Given the description of an element on the screen output the (x, y) to click on. 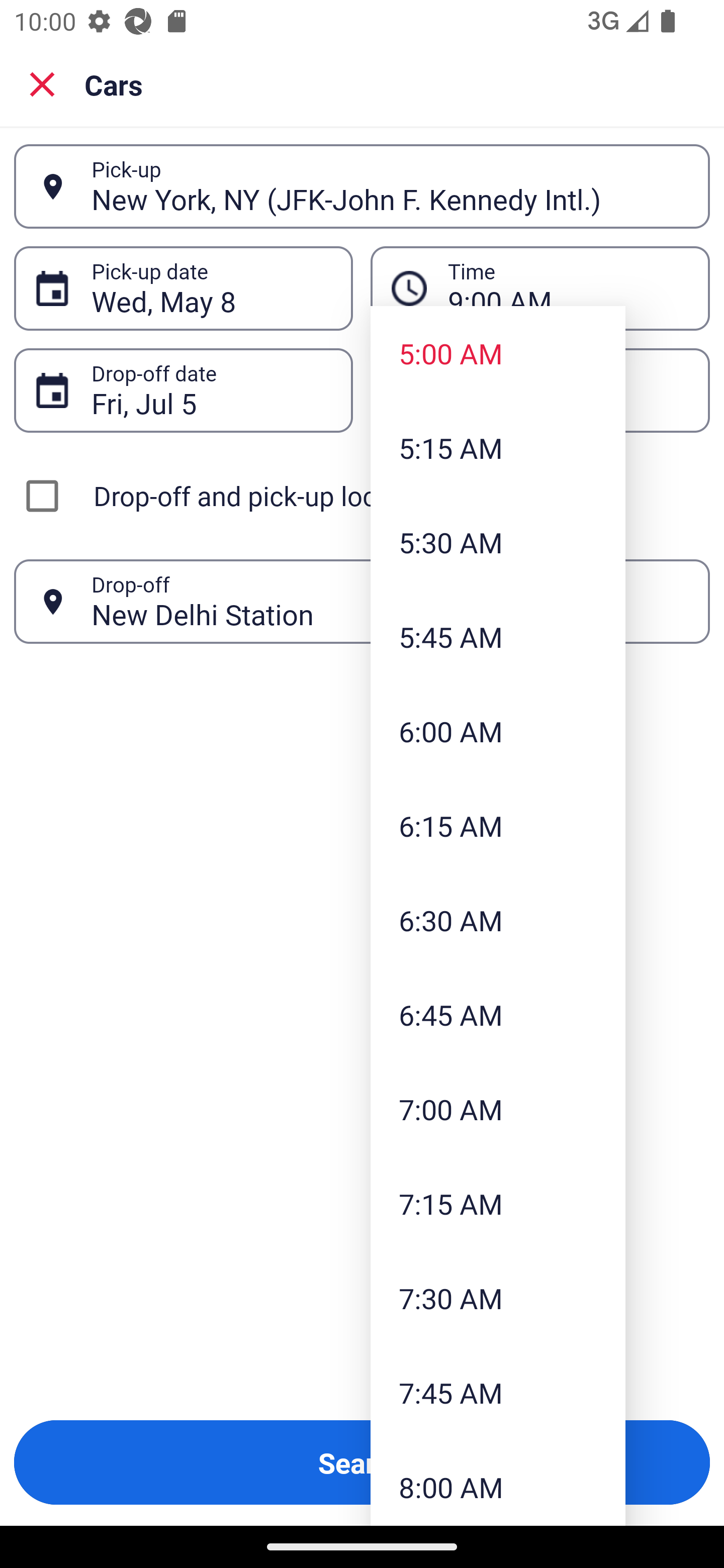
5:00 AM (497, 352)
5:15 AM (497, 447)
5:30 AM (497, 542)
5:45 AM (497, 636)
6:00 AM (497, 730)
6:15 AM (497, 825)
6:30 AM (497, 920)
6:45 AM (497, 1014)
7:00 AM (497, 1109)
7:15 AM (497, 1204)
7:30 AM (497, 1298)
7:45 AM (497, 1392)
8:00 AM (497, 1482)
